Given the description of an element on the screen output the (x, y) to click on. 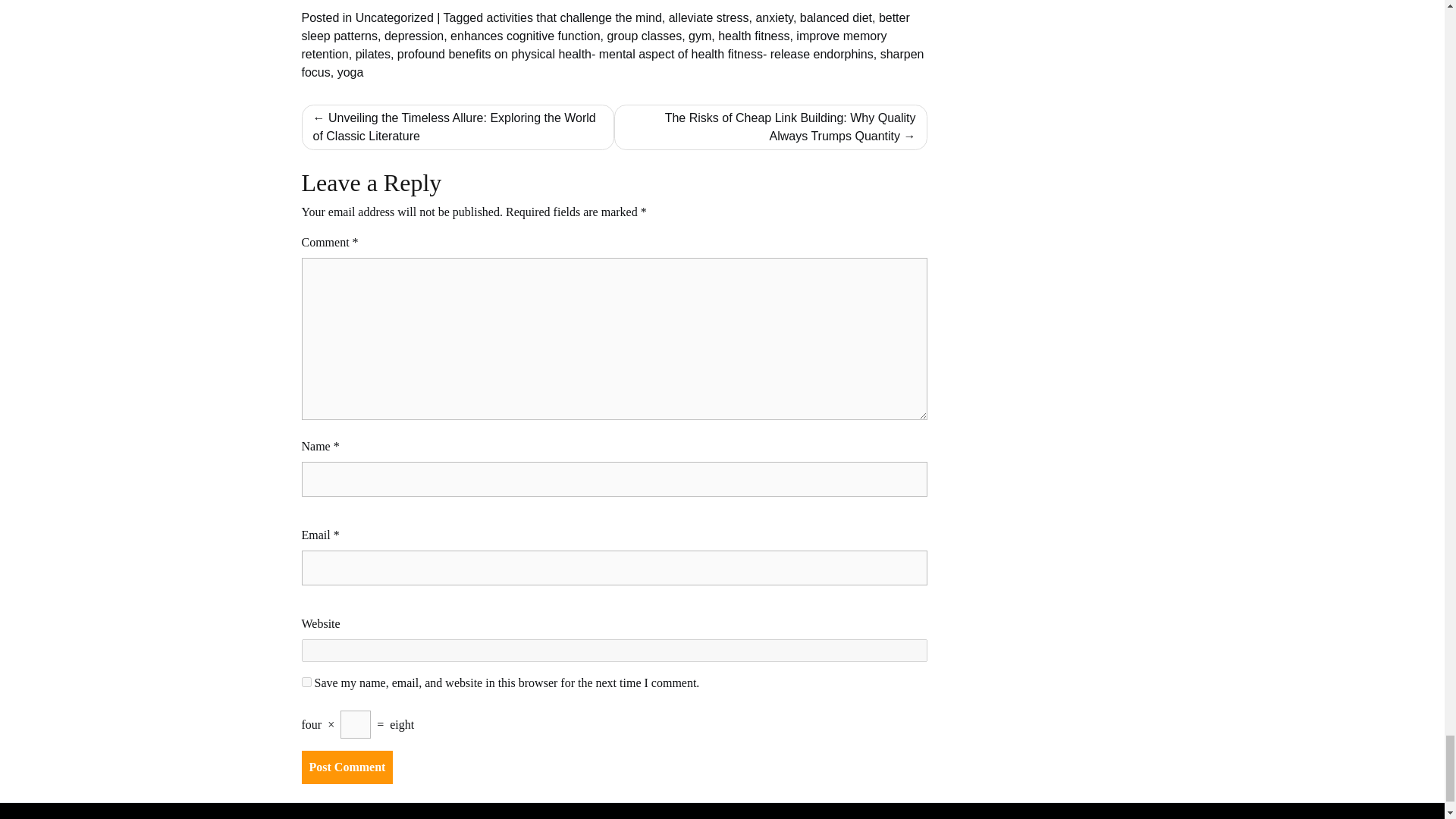
group classes (644, 35)
pilates (372, 53)
anxiety (774, 17)
Post Comment (347, 767)
depression (414, 35)
balanced diet (835, 17)
improve memory retention (593, 44)
gym (699, 35)
enhances cognitive function (524, 35)
activities that challenge the mind (574, 17)
